Given the description of an element on the screen output the (x, y) to click on. 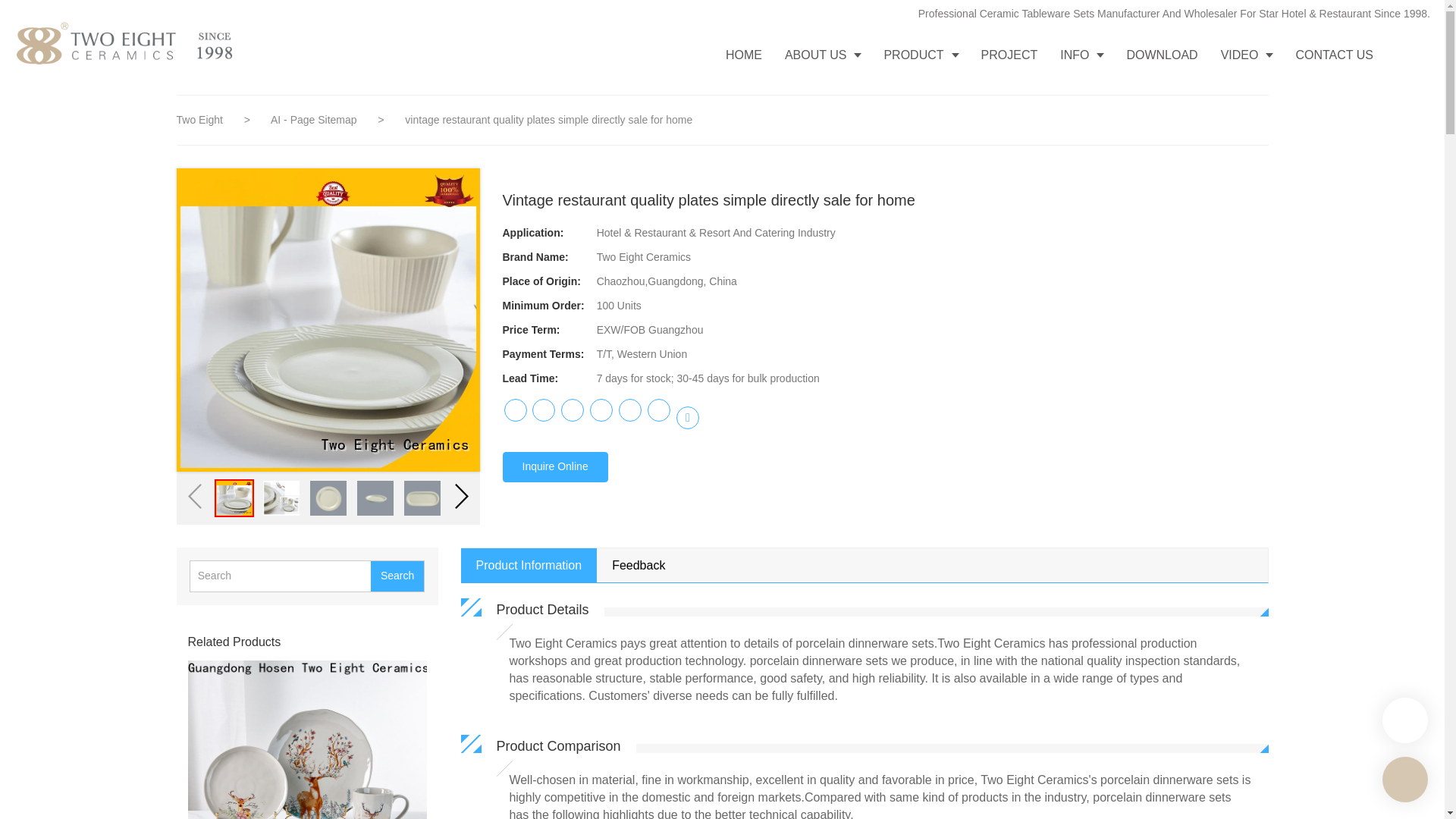
Two Eight (199, 119)
CONTACT US (1334, 55)
Inquire Online (554, 467)
ABOUT US (822, 55)
AI - Page Sitemap (314, 119)
DOWNLOAD (1161, 55)
INFO (1081, 55)
PROJECT (1009, 55)
HOME (743, 55)
VIDEO (1246, 55)
PRODUCT (920, 55)
